Given the description of an element on the screen output the (x, y) to click on. 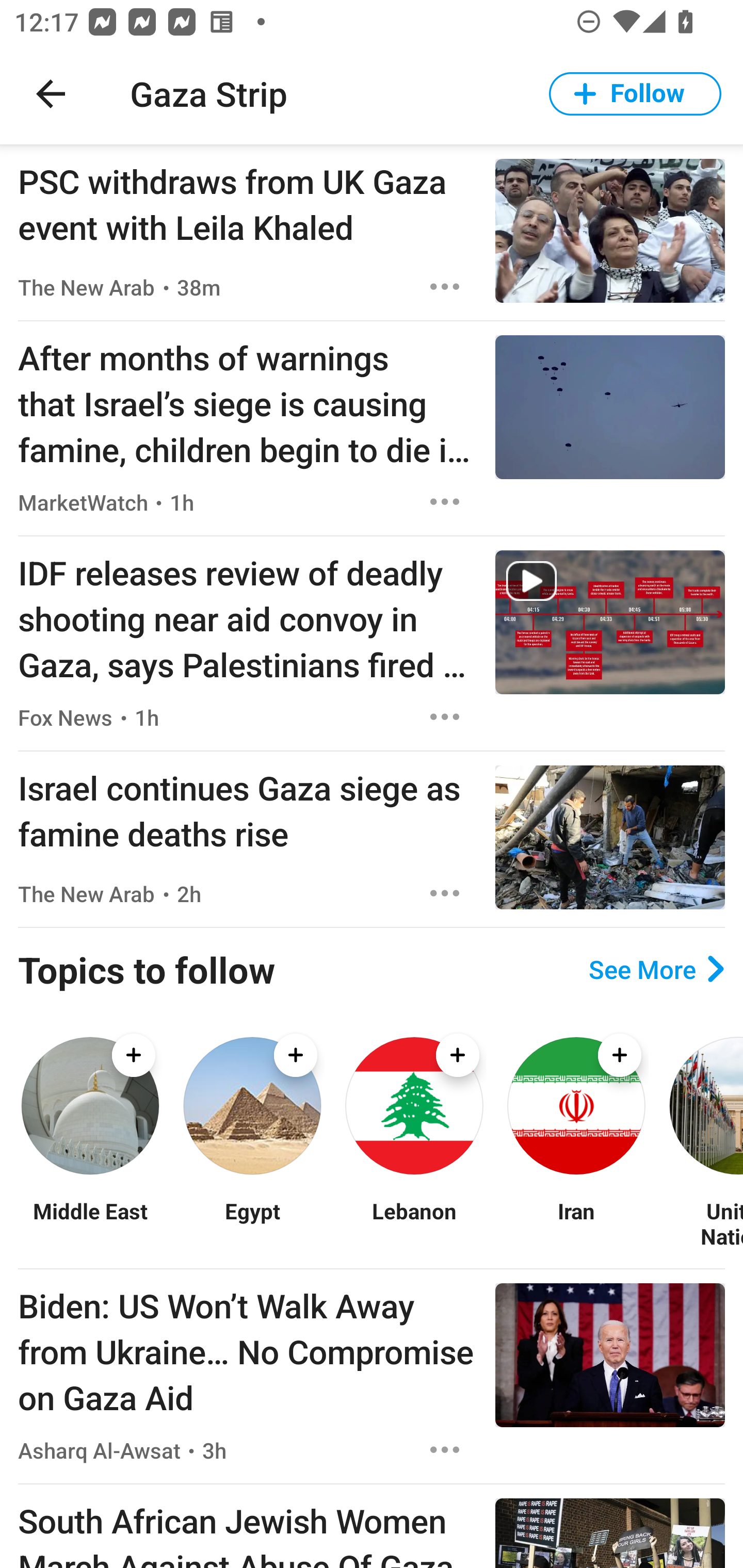
Navigate up (50, 93)
Follow (635, 94)
Options (444, 286)
Options (444, 501)
Options (444, 716)
Options (444, 893)
See More (656, 968)
Middle East (89, 1223)
Egypt (251, 1223)
Lebanon (413, 1223)
Iran (575, 1223)
Options (444, 1449)
